Given the description of an element on the screen output the (x, y) to click on. 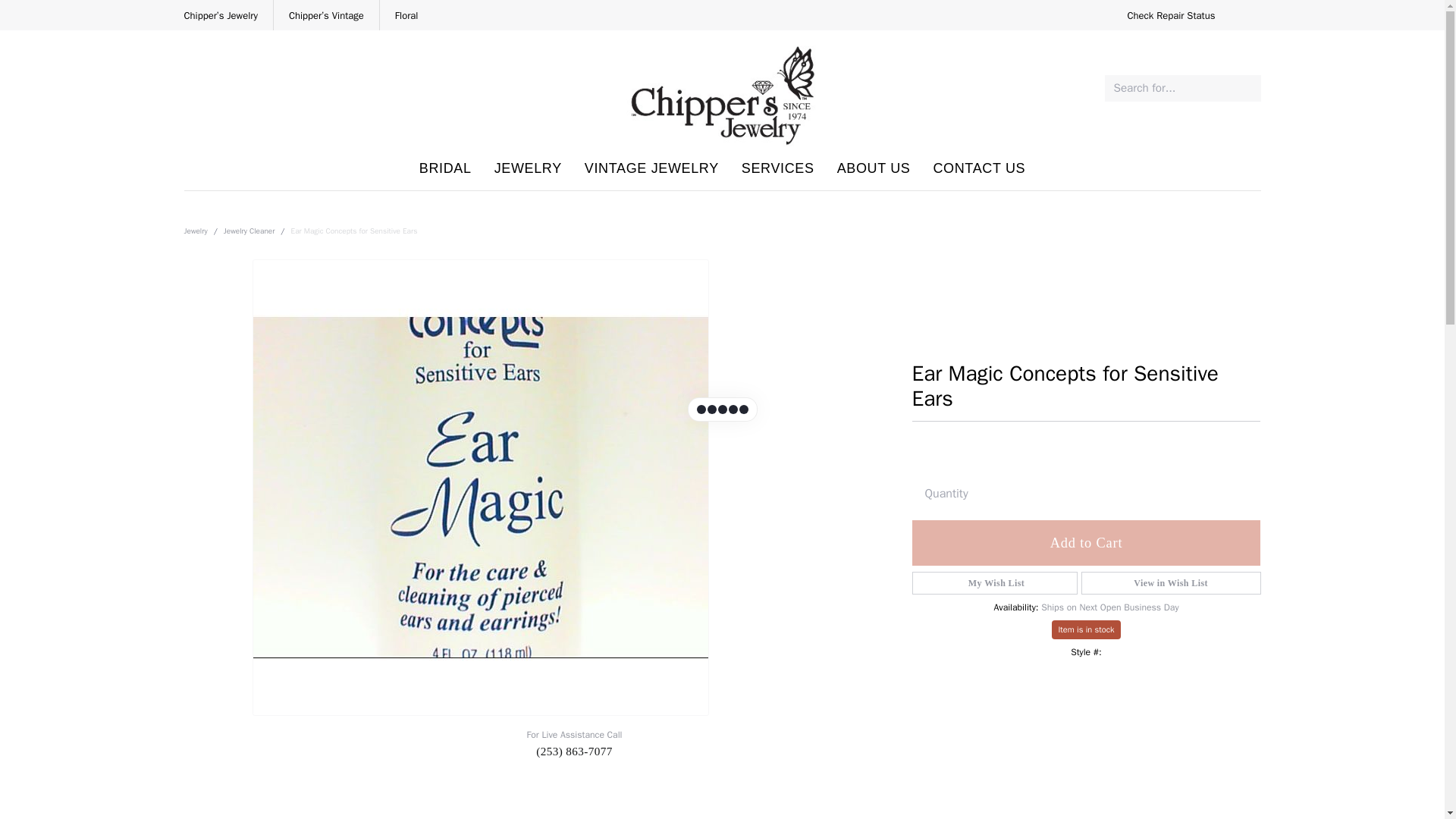
BRIDAL (1170, 15)
JEWELRY (445, 168)
Skip to main content (528, 168)
